Given the description of an element on the screen output the (x, y) to click on. 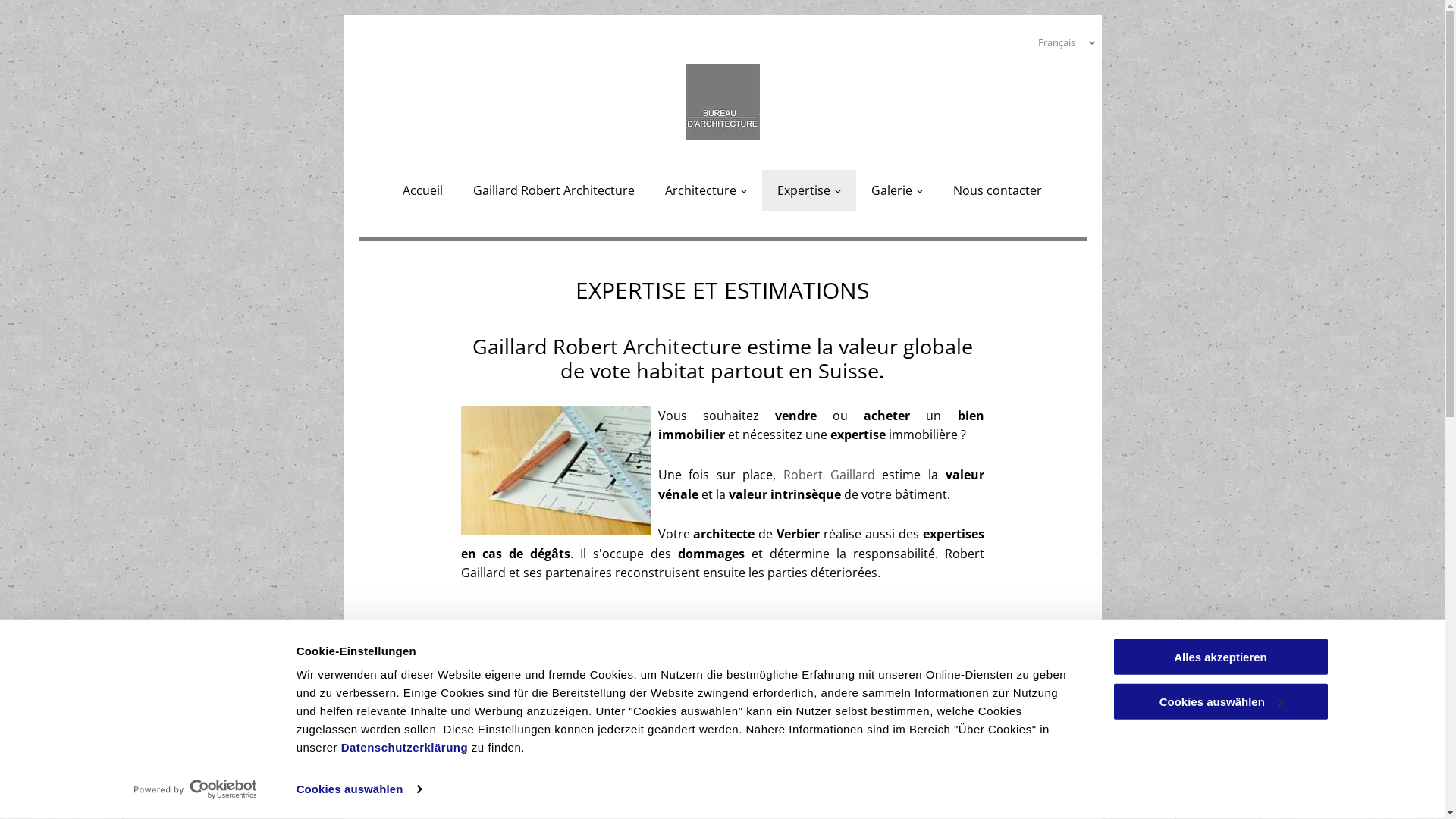
Nous contacter Element type: text (997, 189)
Architecture Element type: text (705, 189)
Robert Gaillard Element type: text (829, 474)
Alles akzeptieren Element type: text (1219, 656)
Galerie Element type: text (897, 189)
Gaillard Robert Architecture Element type: text (553, 189)
Accueil Element type: text (422, 189)
Expertise Element type: text (809, 189)
